Given the description of an element on the screen output the (x, y) to click on. 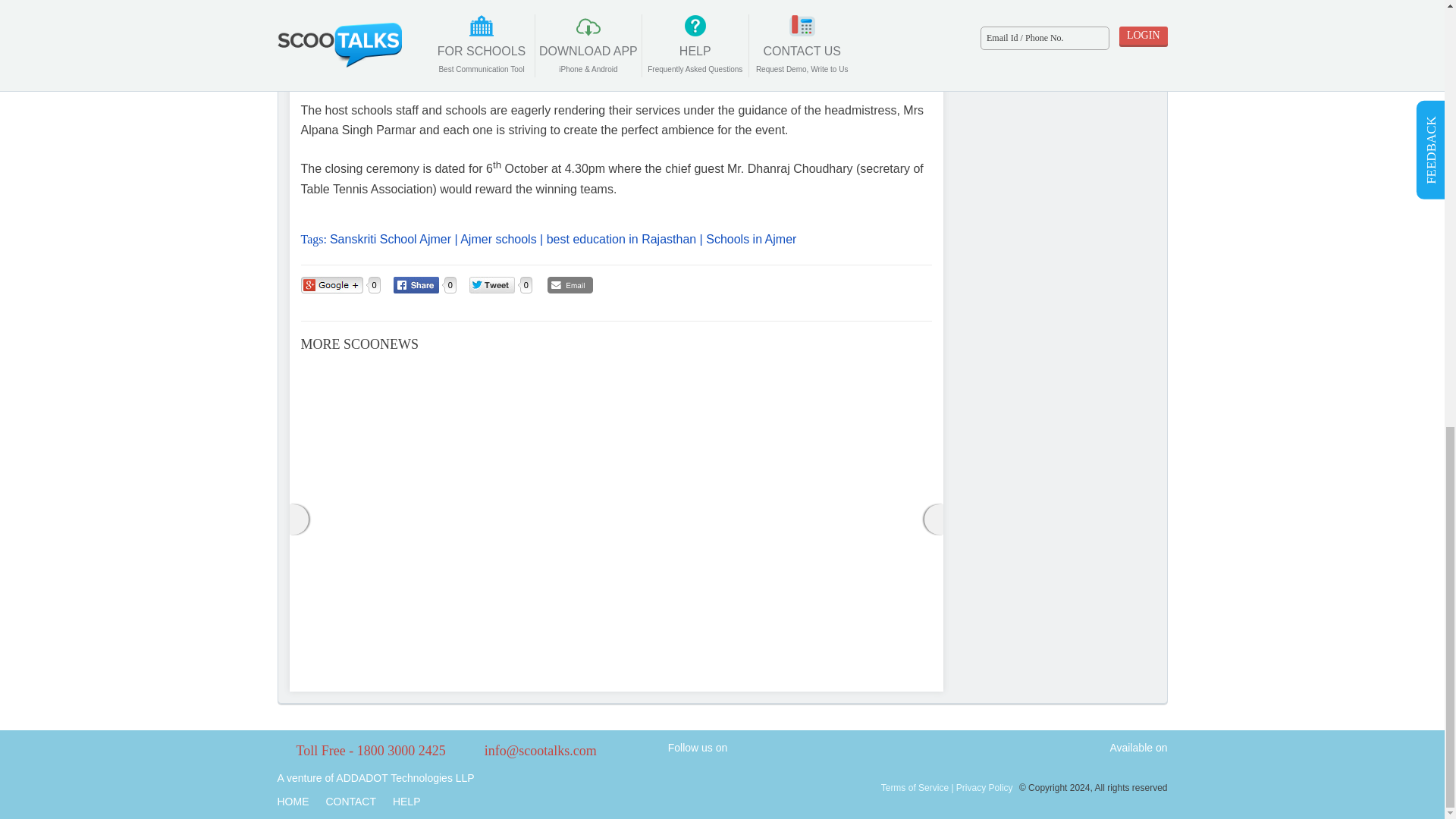
View News (616, 364)
Schools in Ajmer (751, 238)
View News (399, 408)
 Ajmer Schools (497, 238)
Grooming the groomers at this school (610, 427)
Sanskriti School Ajmer (390, 238)
View News (610, 427)
View News (830, 364)
Ajmer schools (497, 238)
Ideal educator: Dattatreya Ware (399, 408)
View News (401, 364)
Read More... (893, 652)
Read More... (464, 652)
 Best Education In Rajasthan (621, 238)
Sanskriti School Ajmer (390, 238)
